Given the description of an element on the screen output the (x, y) to click on. 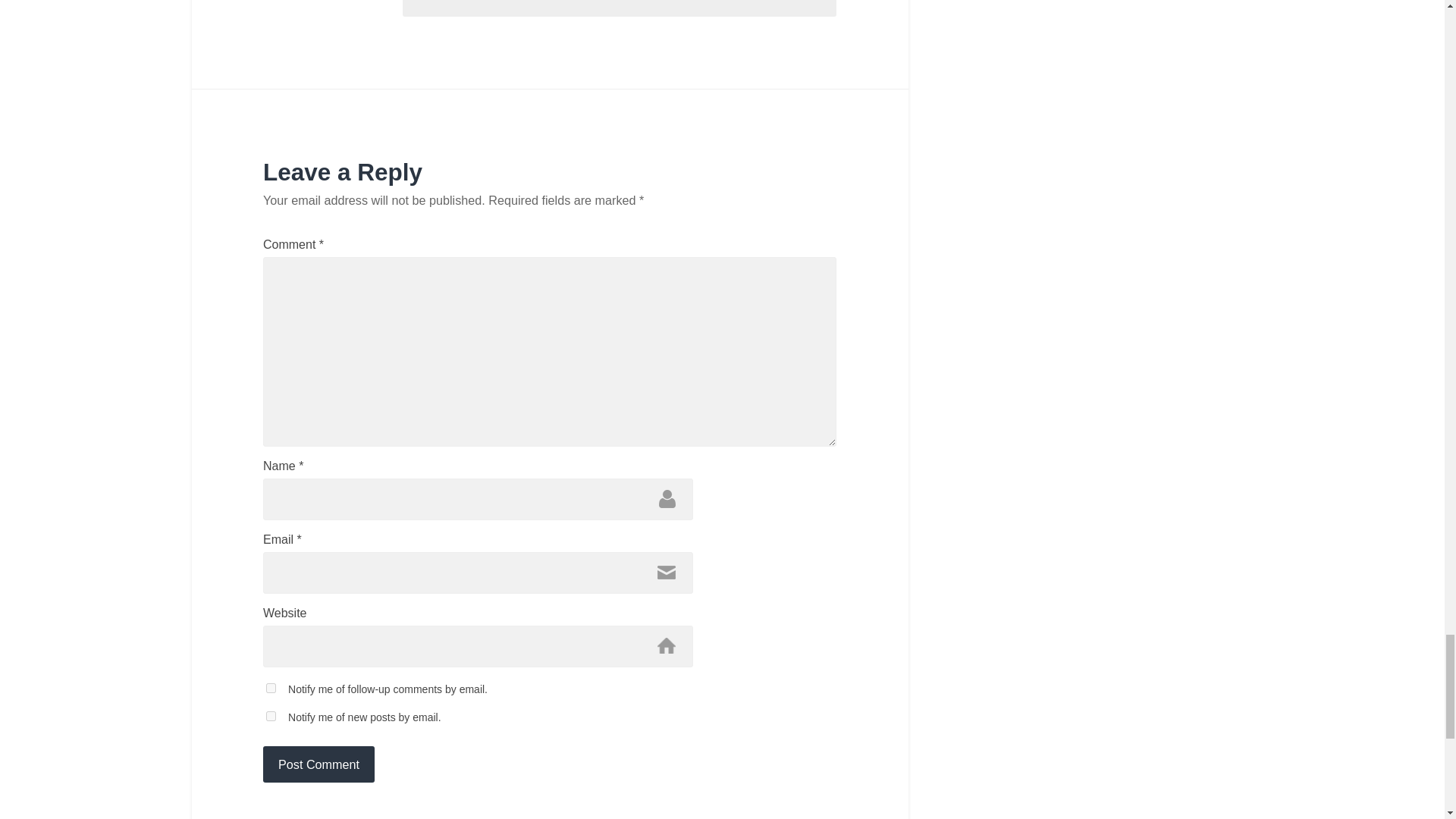
subscribe (271, 716)
Post Comment (318, 764)
subscribe (271, 687)
